Given the description of an element on the screen output the (x, y) to click on. 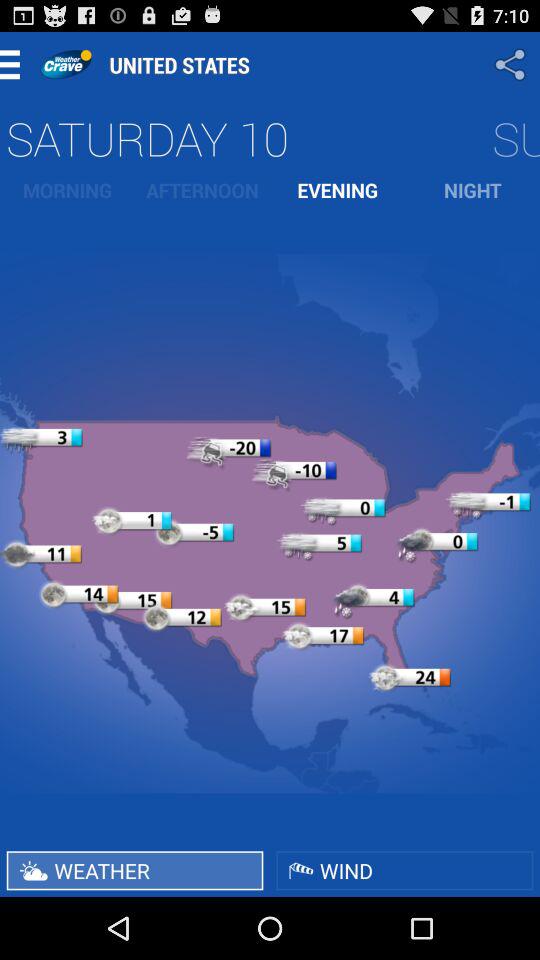
turn on button to the left of wind (134, 870)
